Given the description of an element on the screen output the (x, y) to click on. 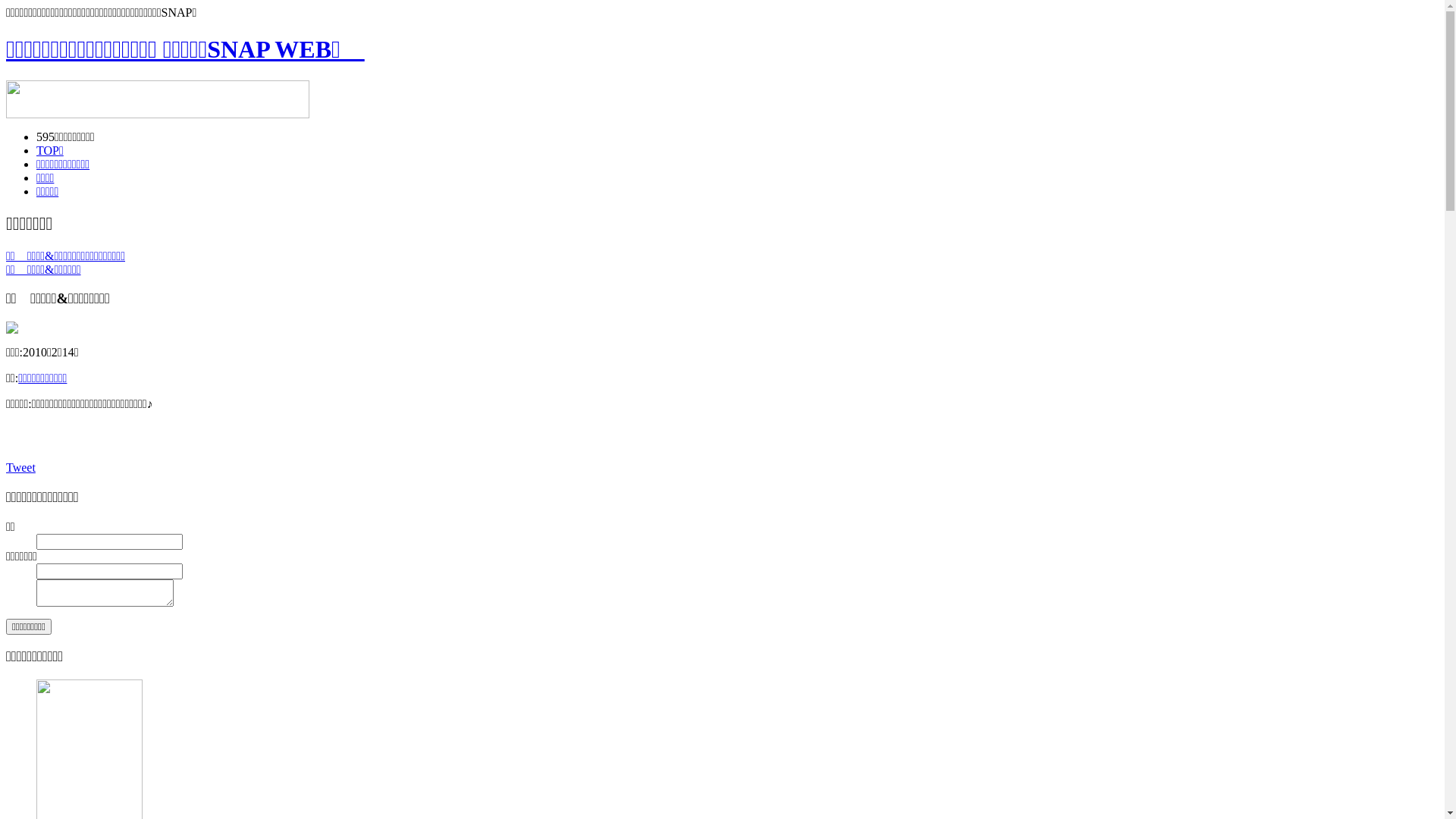
Tweet Element type: text (20, 467)
